Given the description of an element on the screen output the (x, y) to click on. 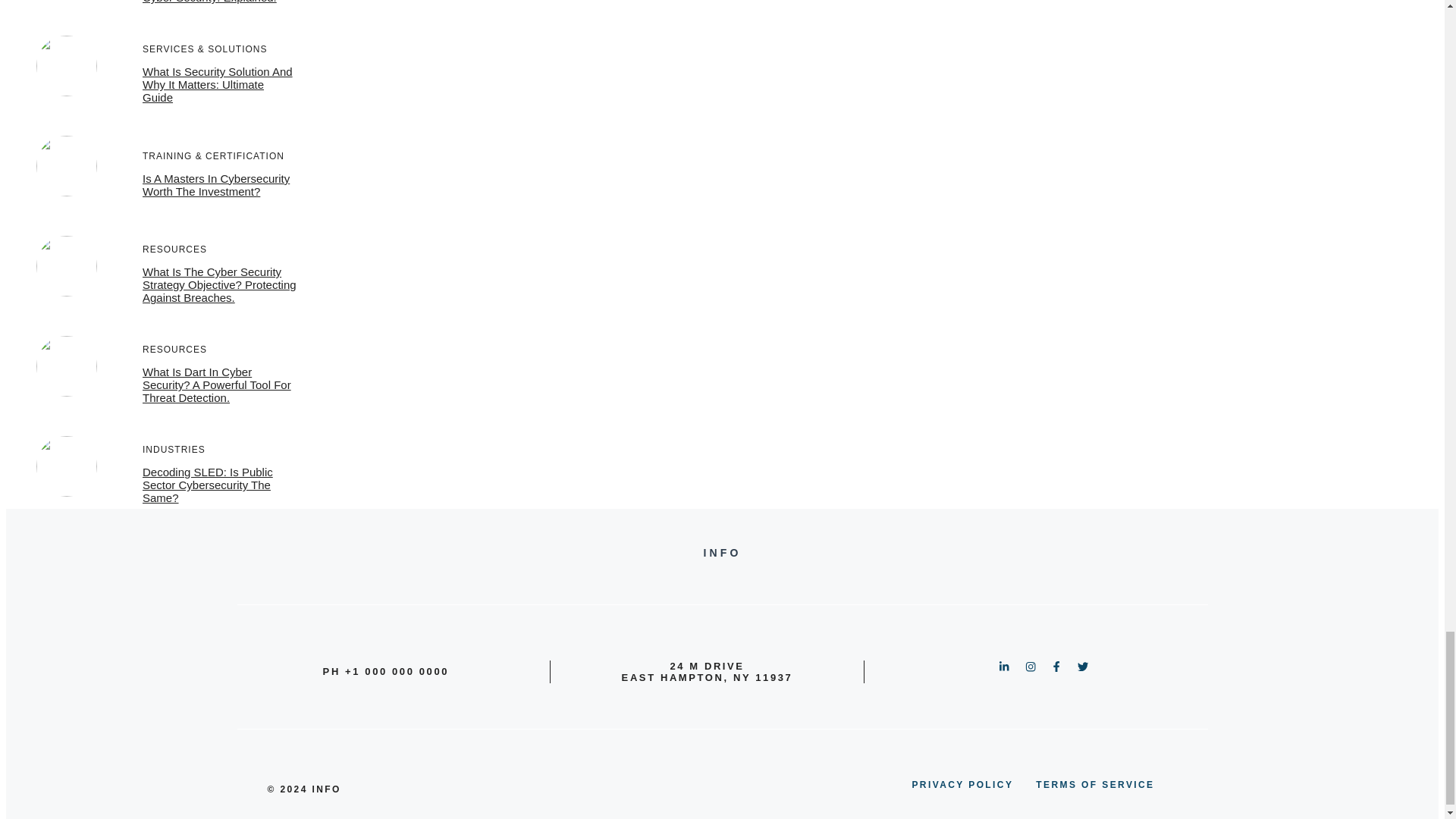
Is A Masters In Cybersecurity Worth The Investment? (215, 184)
Decoding SLED: Is Public Sector Cybersecurity The Same? (207, 485)
PRIVACY POLICY (962, 784)
What Is Security Solution And Why It Matters: Ultimate Guide (217, 84)
TERMS OF SERVICE (1094, 784)
